Given the description of an element on the screen output the (x, y) to click on. 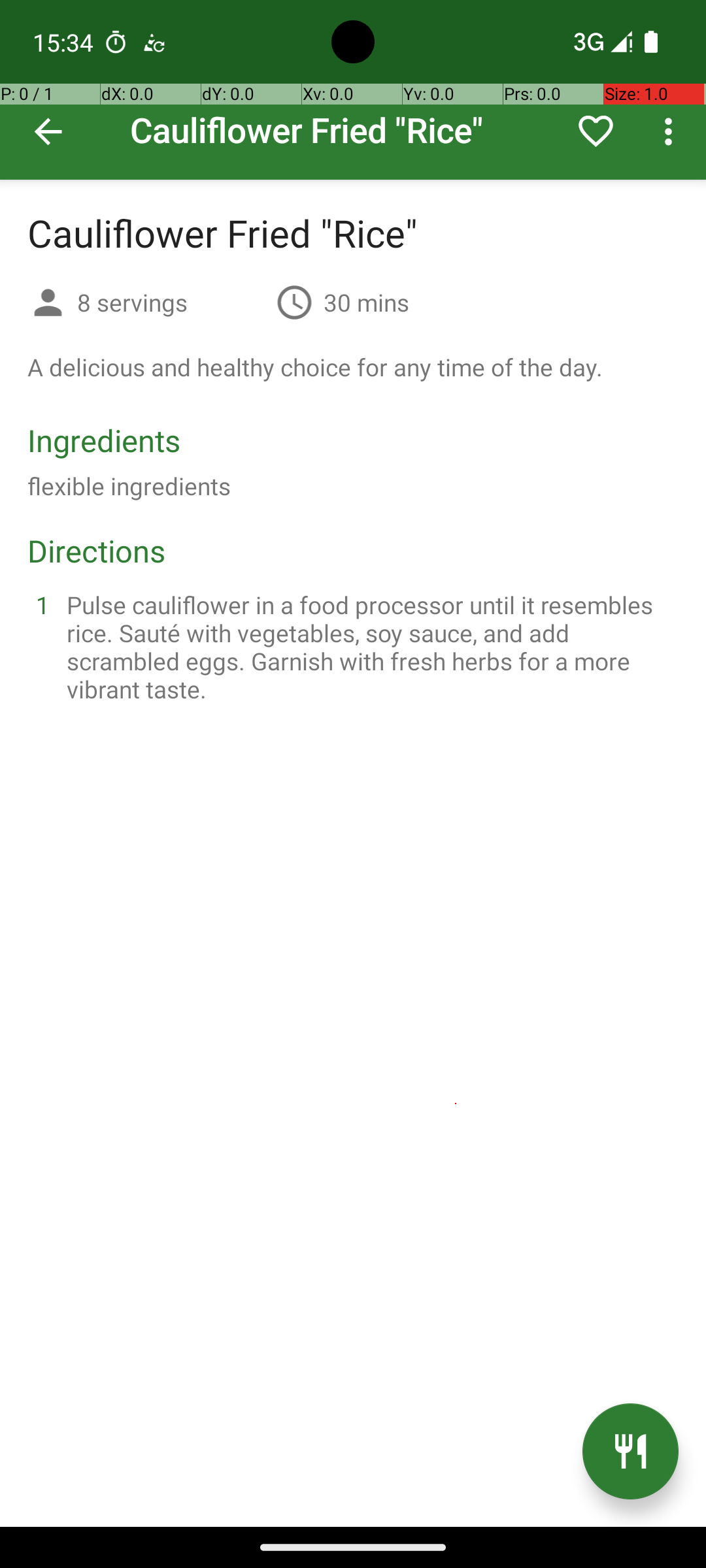
Pulse cauliflower in a food processor until it resembles rice. Sauté with vegetables, soy sauce, and add scrambled eggs. Garnish with fresh herbs for a more vibrant taste. Element type: android.widget.TextView (368, 646)
